Given the description of an element on the screen output the (x, y) to click on. 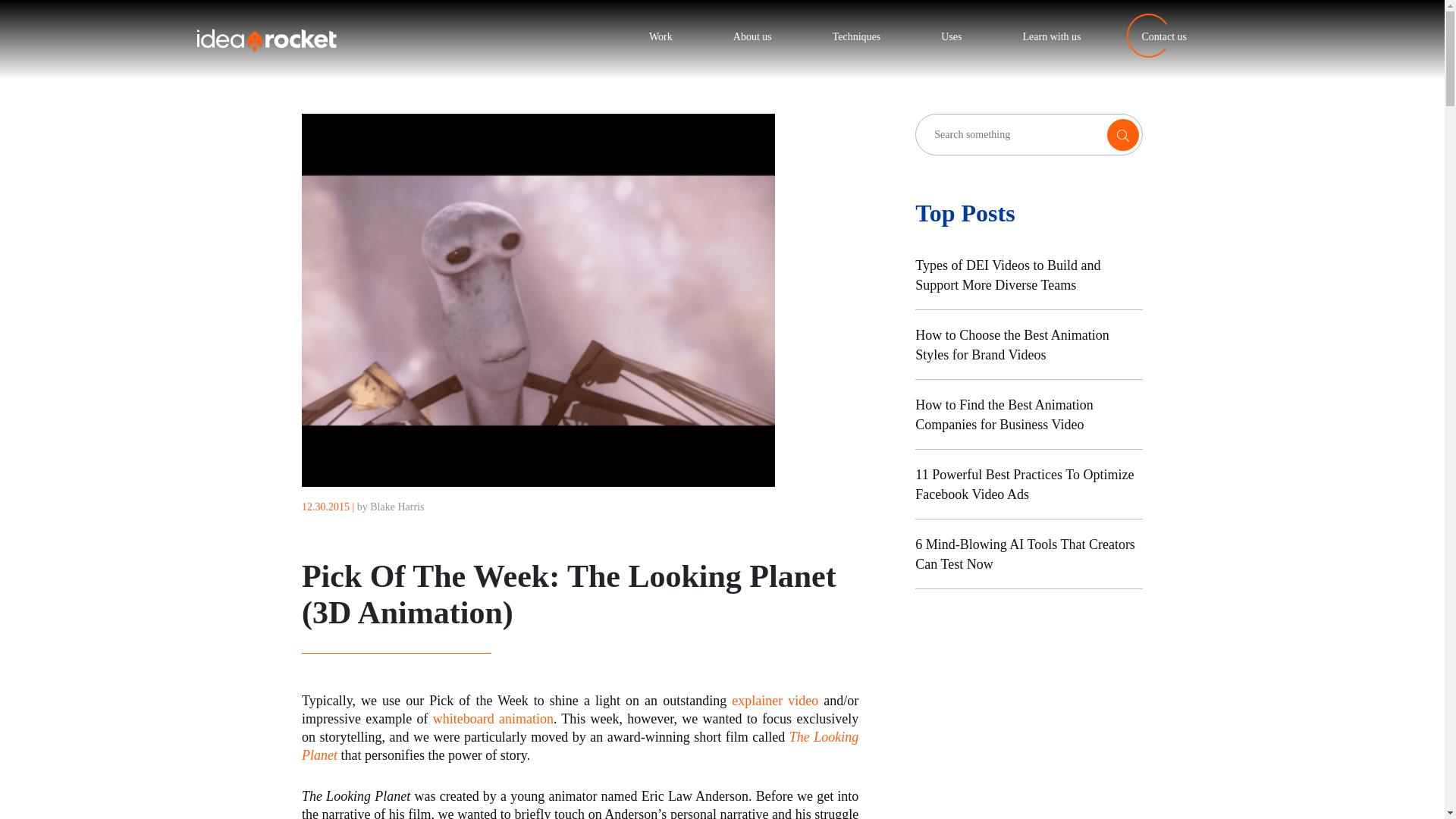
Techniques (856, 36)
Uses (950, 36)
About us (752, 36)
Blake Harris (396, 506)
explainer video (775, 700)
Work (660, 36)
Contact us (1164, 36)
whiteboard animation (492, 718)
The Looking Planet (580, 745)
